Given the description of an element on the screen output the (x, y) to click on. 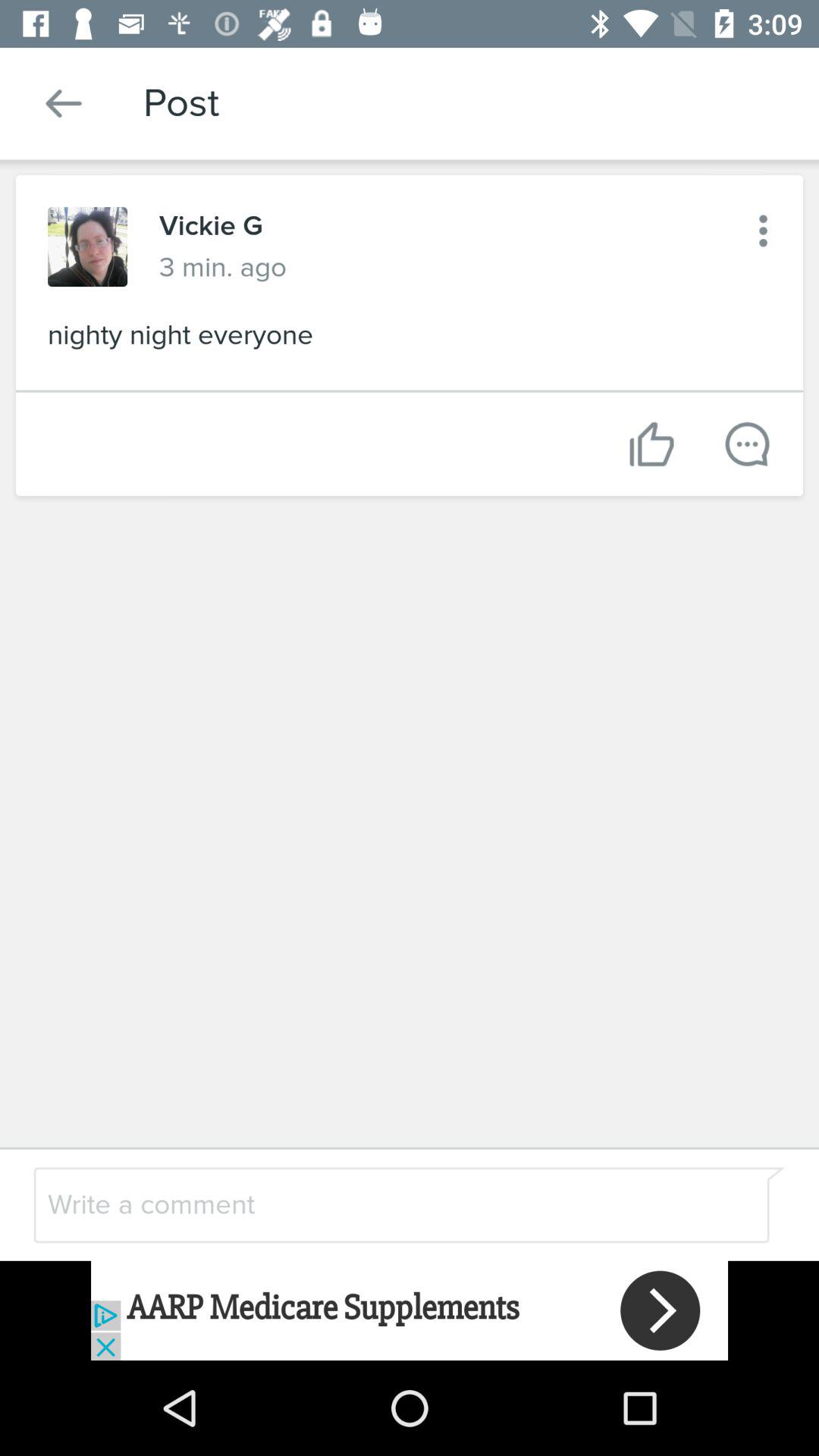
click to more options (763, 230)
